Given the description of an element on the screen output the (x, y) to click on. 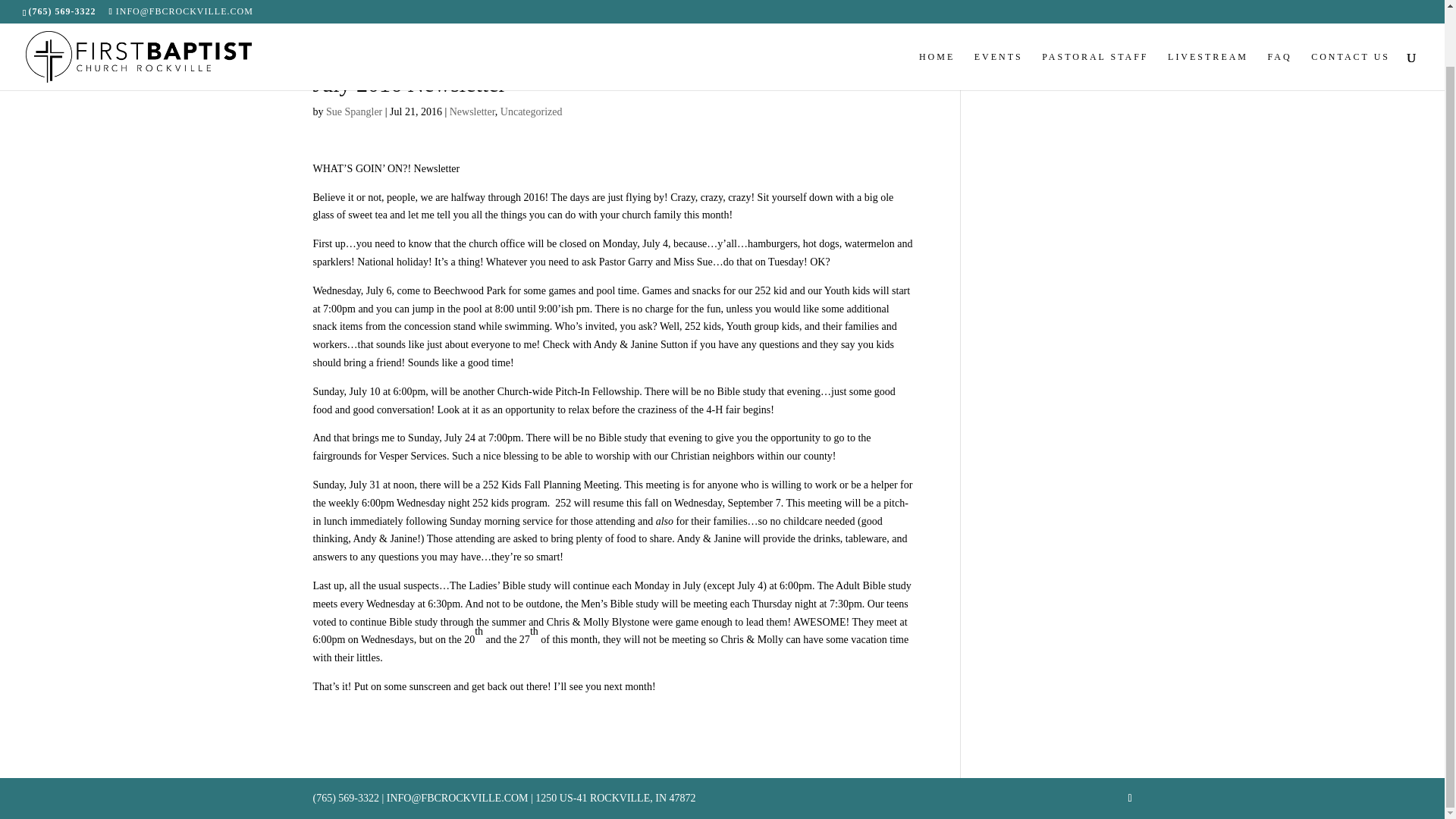
Posts by Sue Spangler (353, 111)
Sue Spangler (353, 111)
FAQ (1280, 14)
CONTACT US (1350, 14)
Uncategorized (531, 111)
LIVESTREAM (1207, 14)
Newsletter (472, 111)
PASTORAL STAFF (1095, 14)
HOME (936, 14)
EVENTS (998, 14)
